Given the description of an element on the screen output the (x, y) to click on. 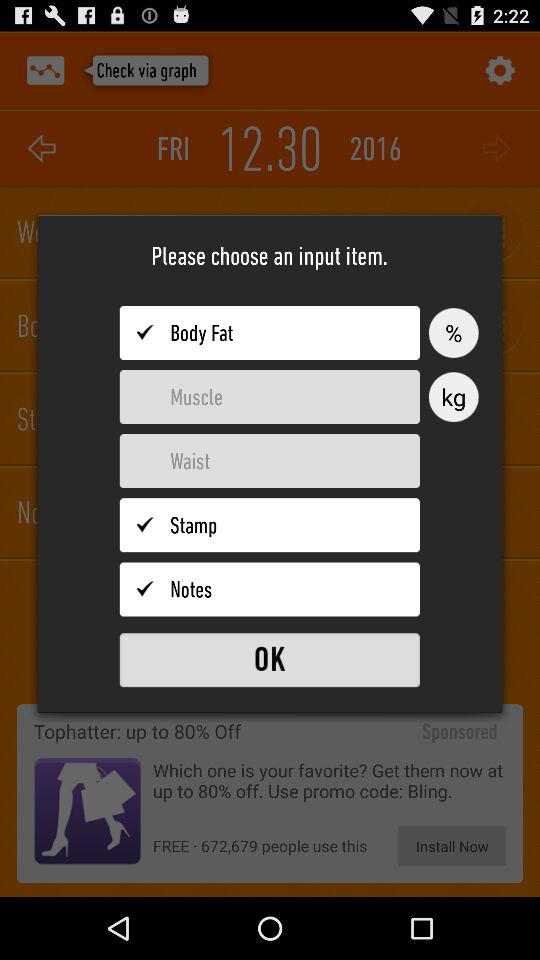
choose muscle (269, 397)
